Given the description of an element on the screen output the (x, y) to click on. 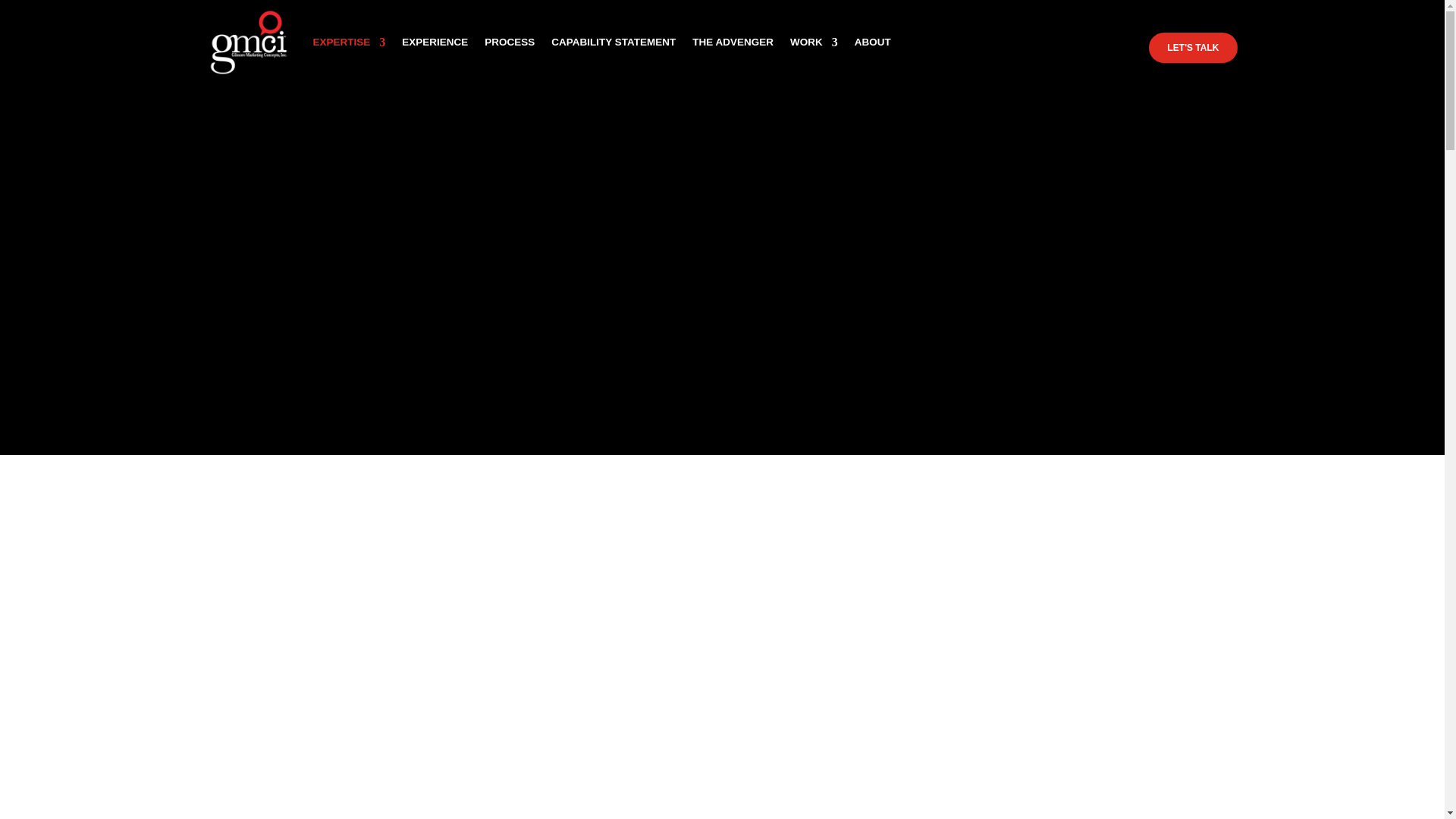
CAPABILITY STATEMENT (613, 41)
EXPERIENCE (434, 41)
THE ADVENGER (733, 41)
LET'S TALK (1193, 47)
EXPERTISE (349, 41)
